Given the description of an element on the screen output the (x, y) to click on. 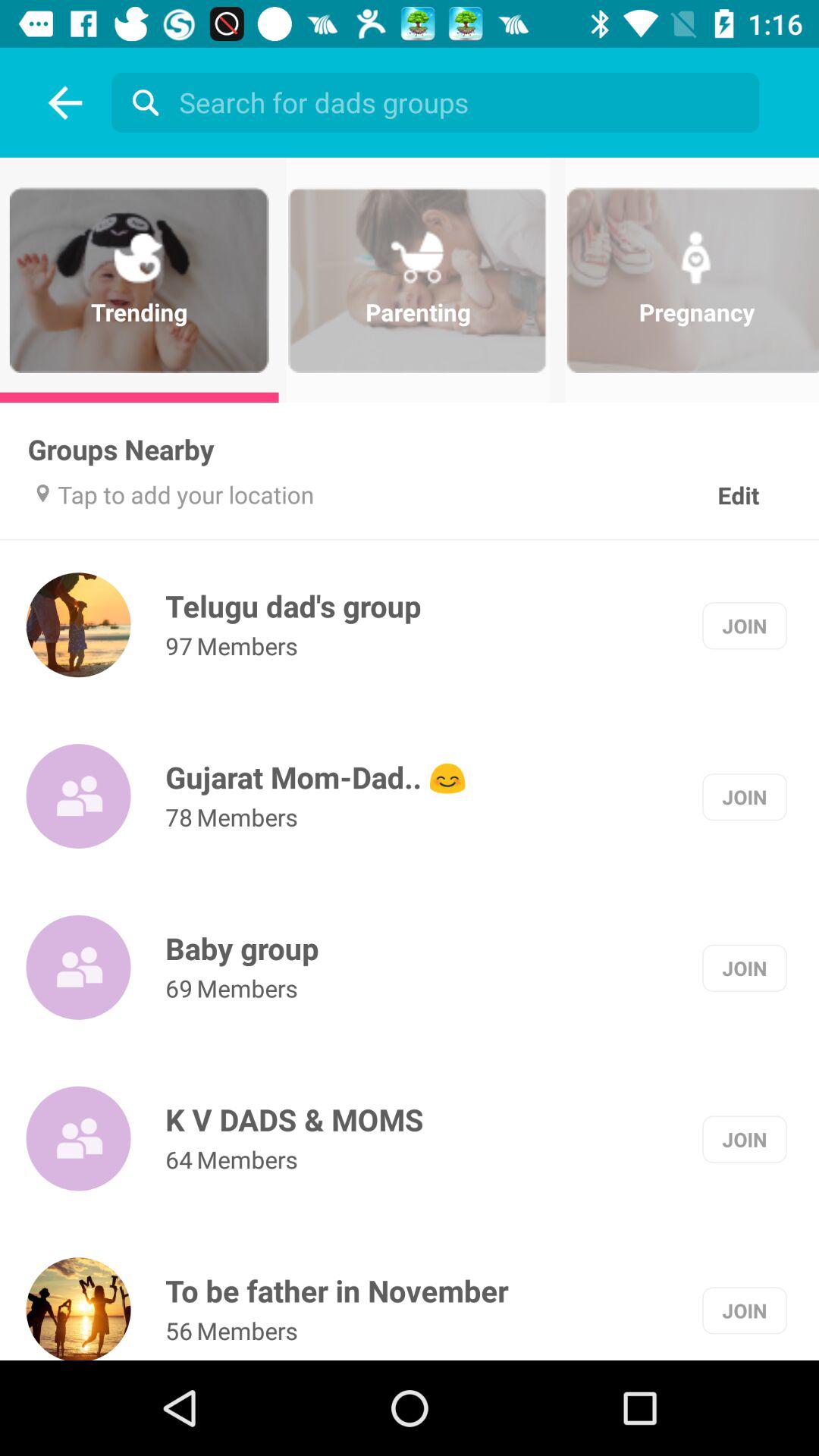
scroll to 97 item (178, 645)
